Given the description of an element on the screen output the (x, y) to click on. 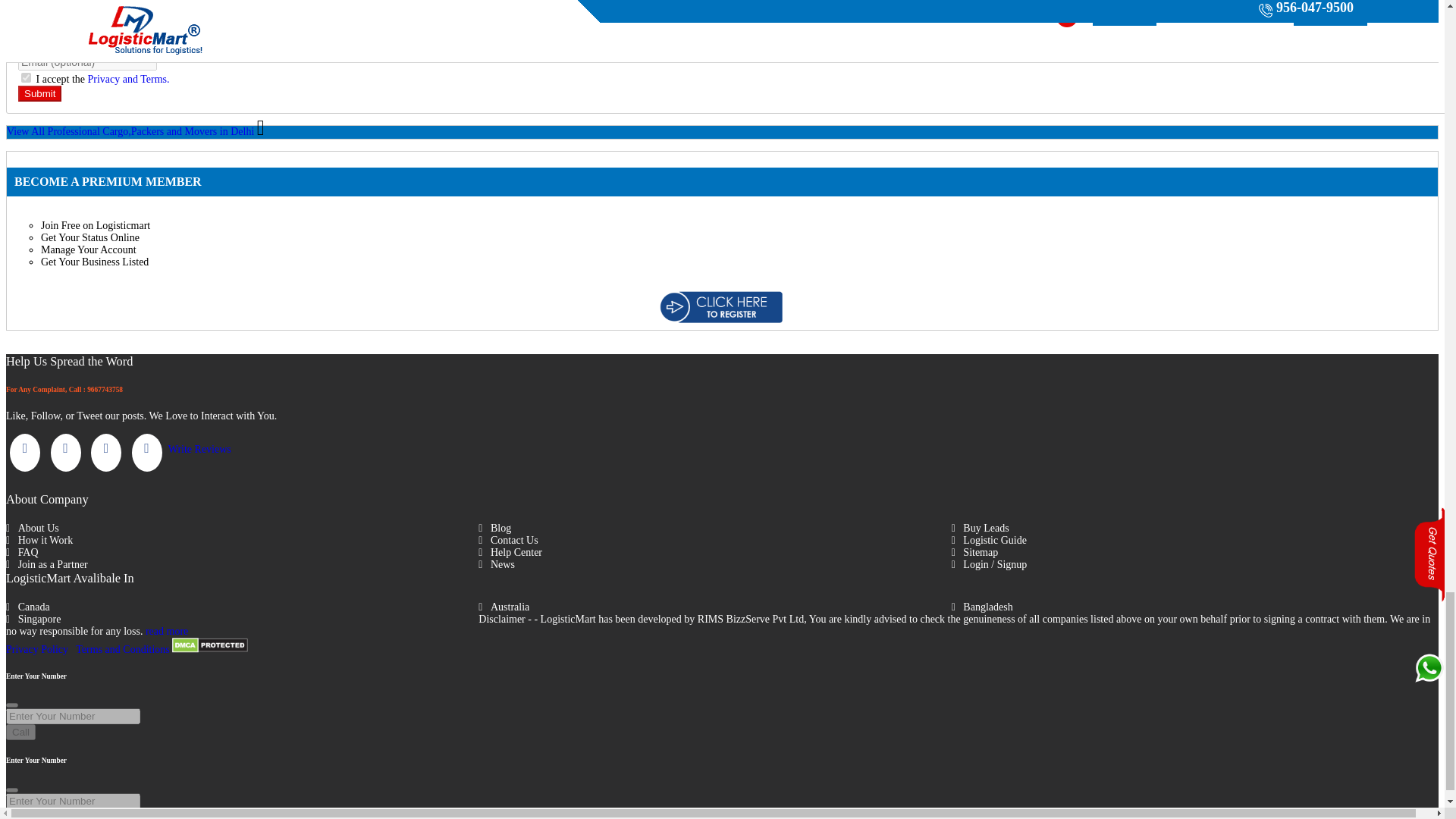
Privacy Policy (36, 649)
How it Work (242, 540)
write-review (199, 449)
Logistic Guide (1187, 540)
Singapore (242, 619)
Canada (242, 607)
read more (166, 631)
Submit (39, 93)
FAQ (242, 552)
Australia (714, 607)
